Given the description of an element on the screen output the (x, y) to click on. 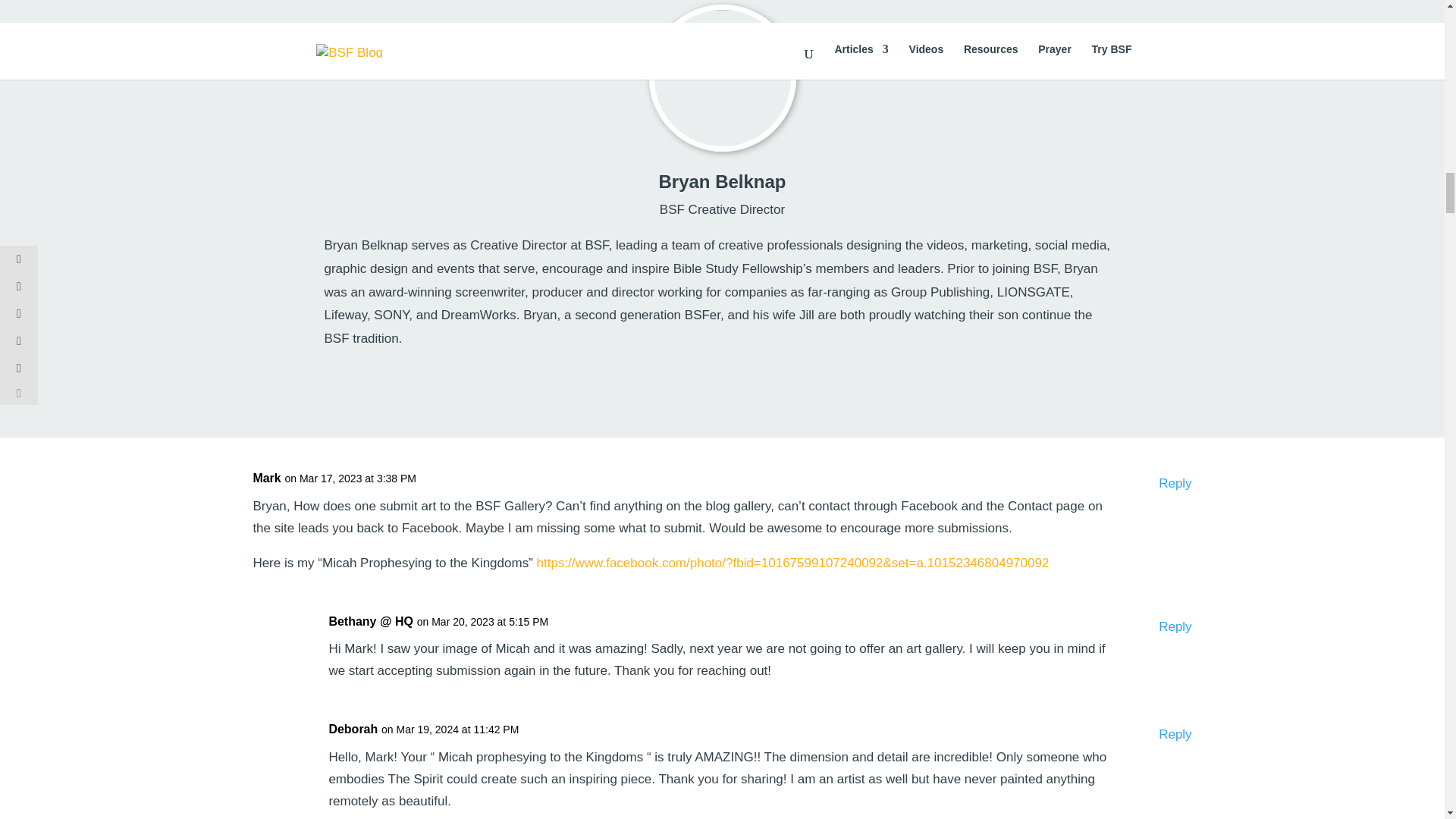
Reply (1174, 627)
Reply (1174, 484)
bryanbelknap (721, 77)
Reply (1174, 734)
